Given the description of an element on the screen output the (x, y) to click on. 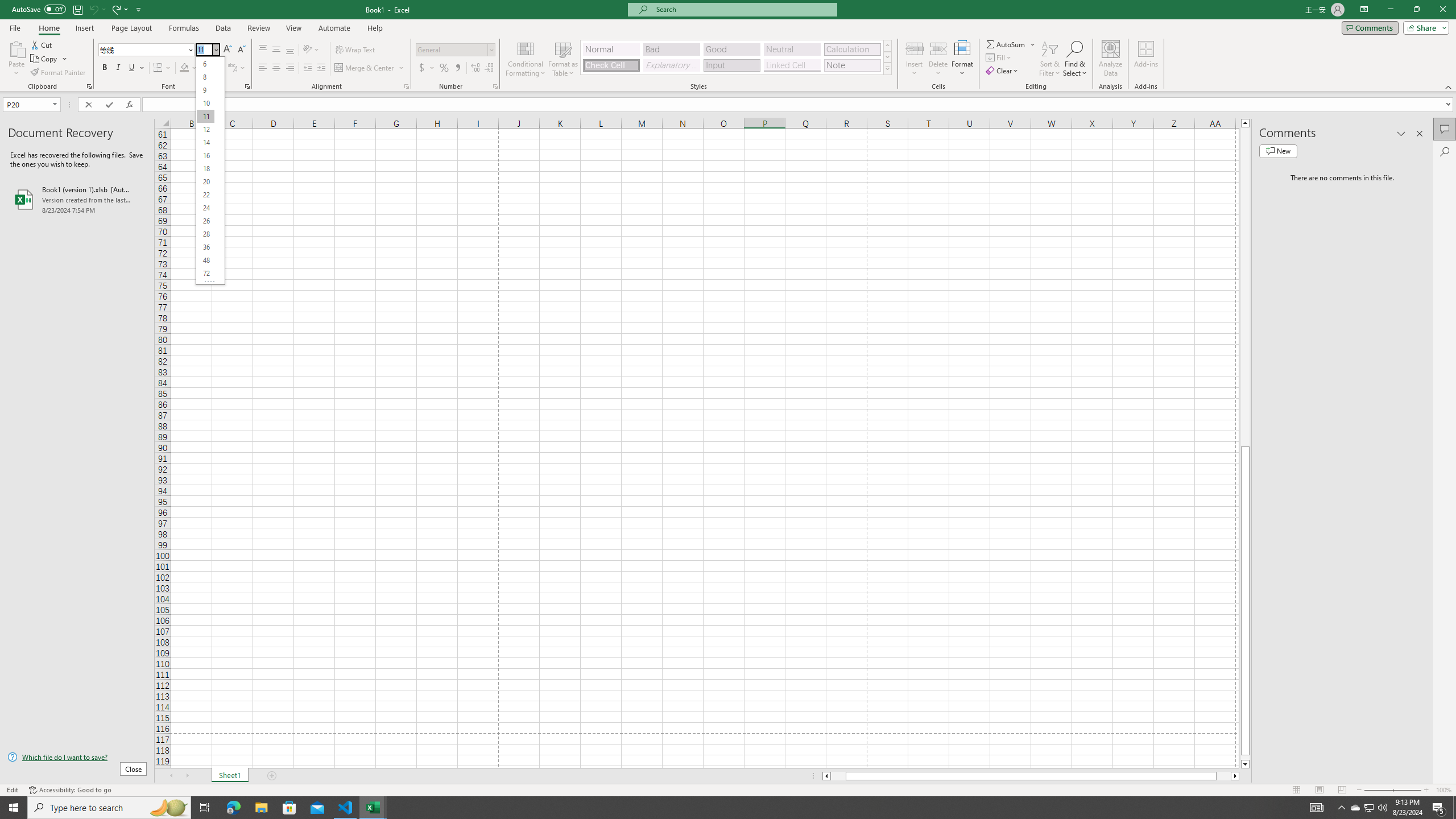
Sheet1 (229, 775)
Calculation (852, 49)
10 (205, 102)
Add Sheet (272, 775)
Fill Color (188, 67)
Page right (1223, 775)
Align Left (262, 67)
Font Size (207, 49)
Sum (1006, 44)
Bottom Align (290, 49)
16 (205, 155)
Underline (136, 67)
Good (731, 49)
Page down (1245, 757)
